Given the description of an element on the screen output the (x, y) to click on. 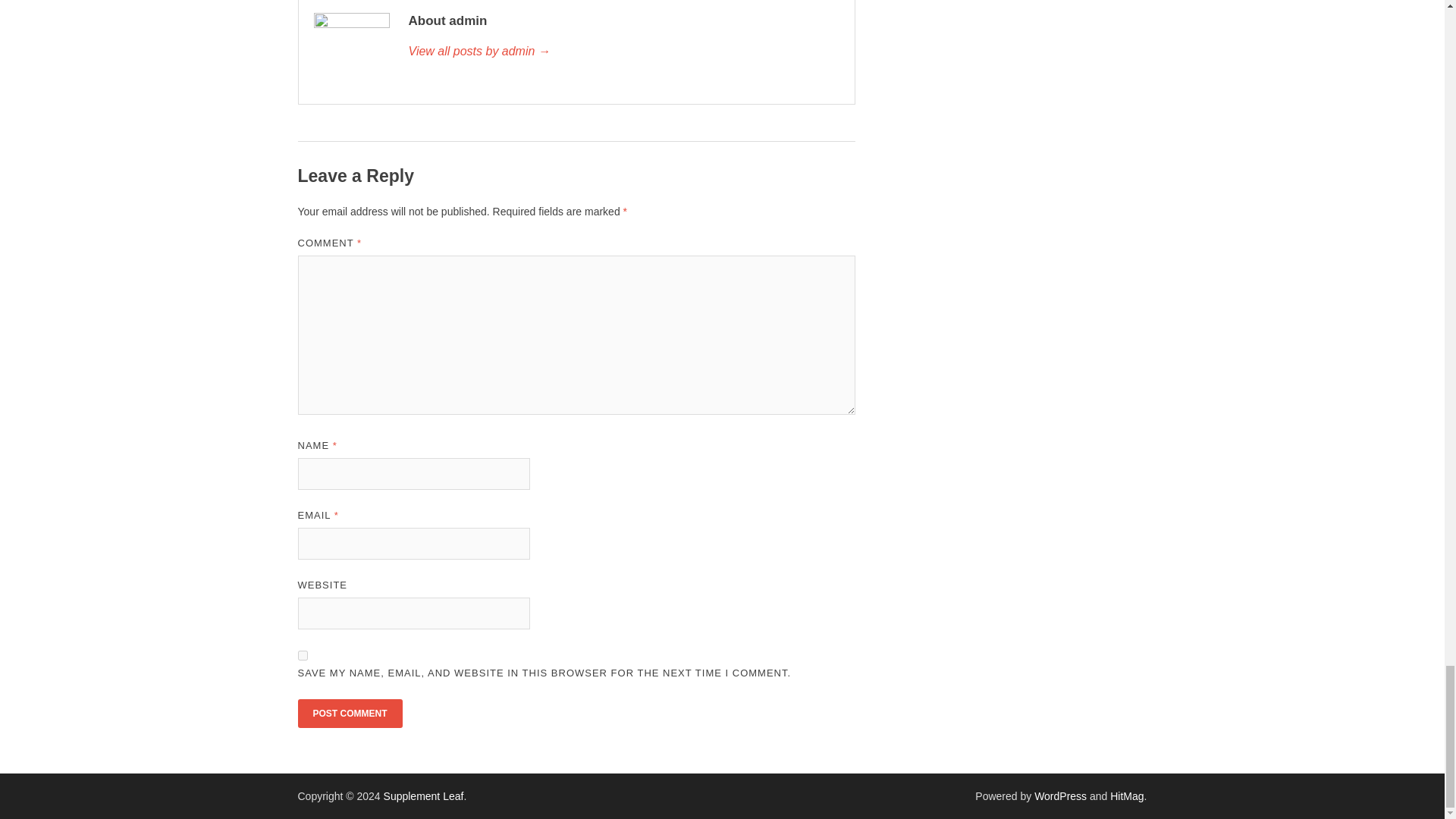
Post Comment (349, 713)
admin (622, 51)
Post Comment (349, 713)
yes (302, 655)
